Given the description of an element on the screen output the (x, y) to click on. 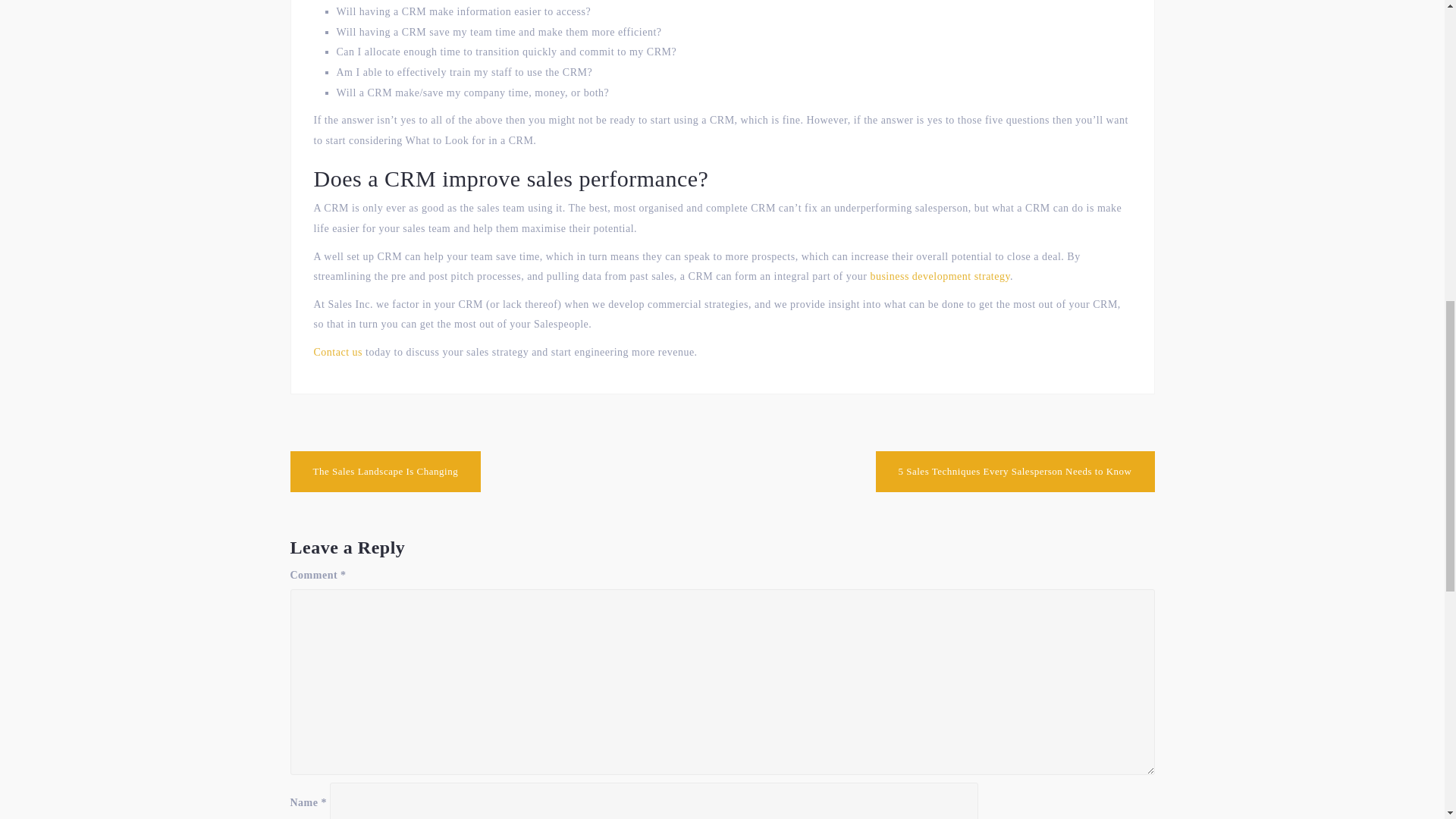
Contact us (338, 351)
The Sales Landscape Is Changing (384, 472)
business development strategy (939, 276)
5 Sales Techniques Every Salesperson Needs to Know (1014, 472)
